Given the description of an element on the screen output the (x, y) to click on. 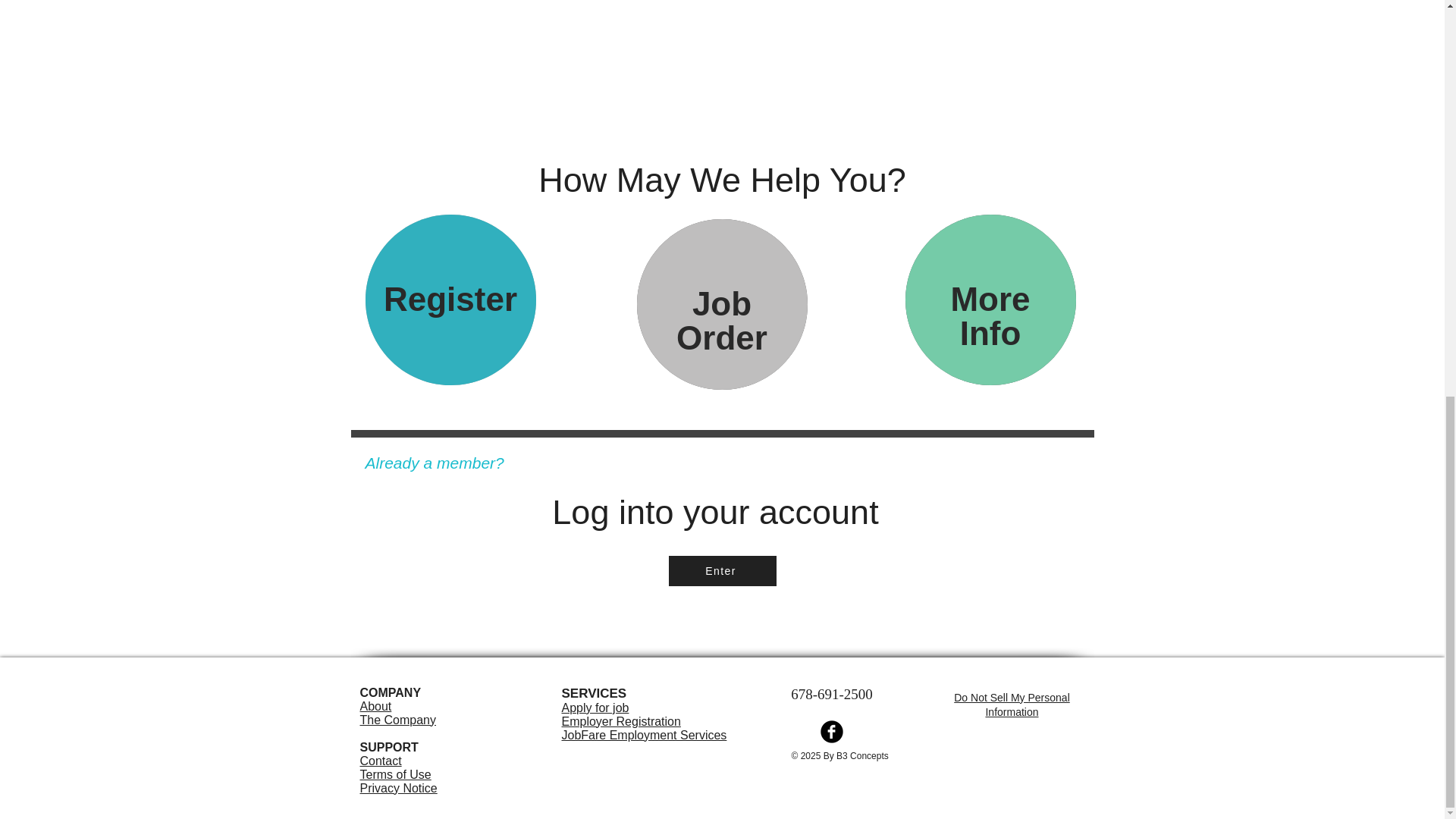
Employer Registration (619, 721)
Do Not Sell My Personal Information (397, 781)
Apply for job (397, 713)
Register (1011, 705)
Contact (594, 707)
Enter (450, 299)
Job Order (380, 760)
JobFare Employment Services (722, 571)
More Info (722, 321)
